Given the description of an element on the screen output the (x, y) to click on. 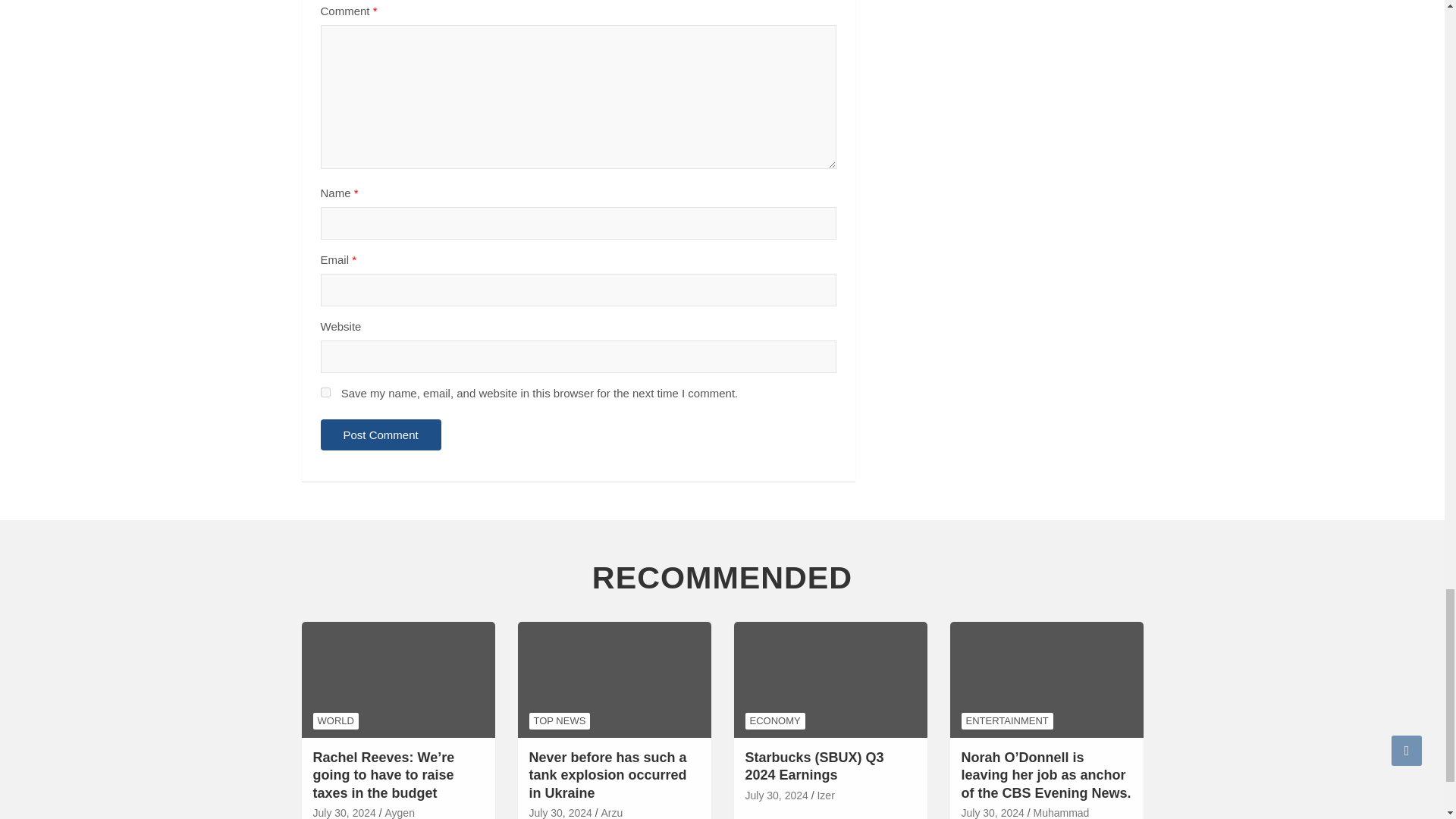
WORLD (335, 720)
July 30, 2024 (344, 812)
Never before has such a tank explosion occurred in Ukraine (560, 812)
Post Comment (380, 434)
yes (325, 392)
Post Comment (380, 434)
